Given the description of an element on the screen output the (x, y) to click on. 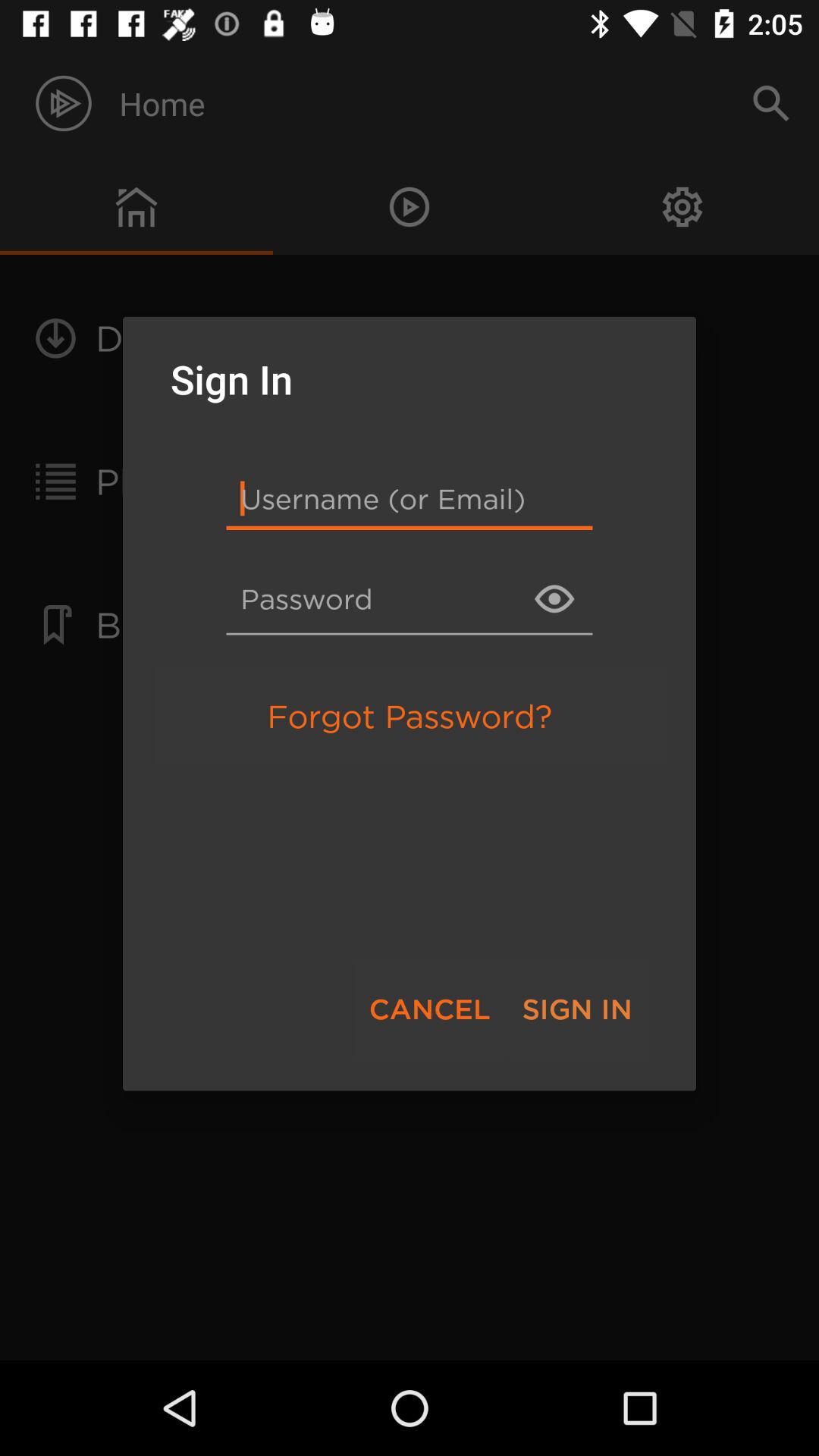
click item at the bottom (429, 1009)
